Given the description of an element on the screen output the (x, y) to click on. 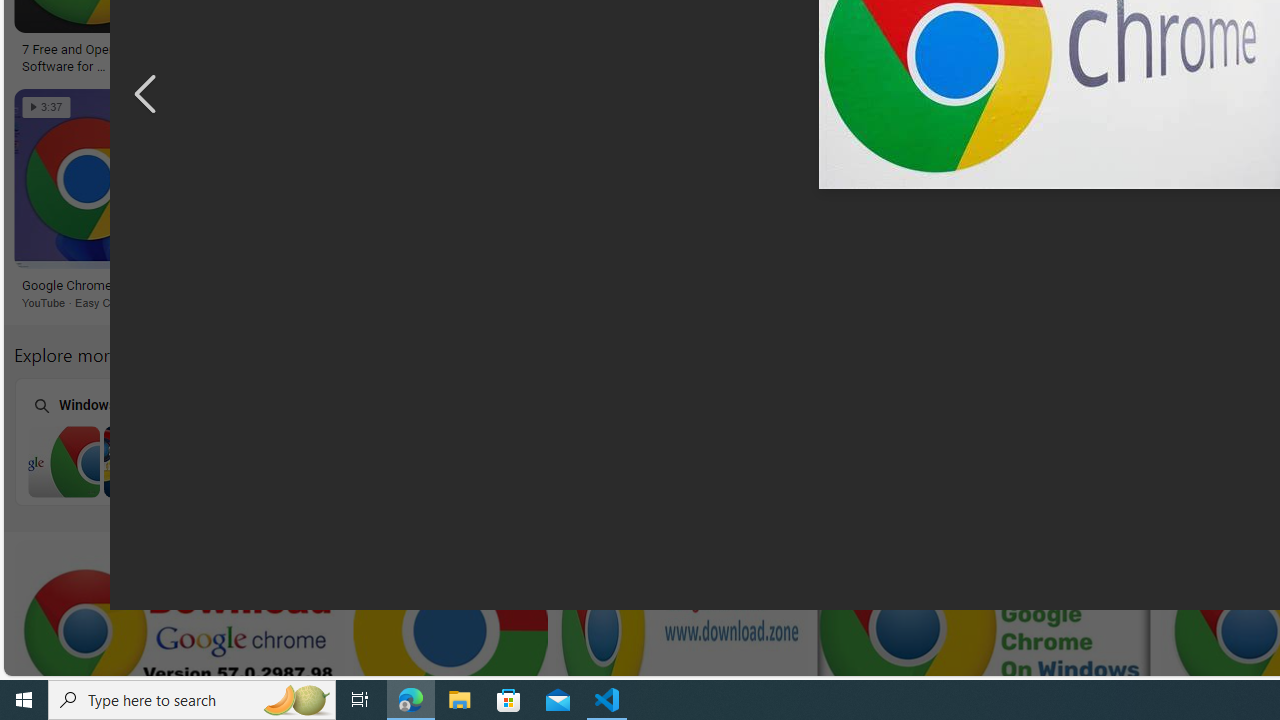
3:37 (45, 107)
Chrome Browser Download Windows 10 Windows 10 (907, 441)
Image result for Google Chrome Internet Browser Download (817, 179)
Chrome Browser Download Windows 7 Windows 7 (139, 441)
All Categories - humanrewa (1061, 50)
7 Free and Open Source Software for Windows PC | HubPages (91, 56)
Chrome Browser Download Windows 10 64-Bit (652, 461)
Windows 10 (907, 440)
Chrome Browser Download Windows 7 (140, 461)
Descargar Google Chrome Para Pc 2021 Windows 7810 (364, 50)
